Given the description of an element on the screen output the (x, y) to click on. 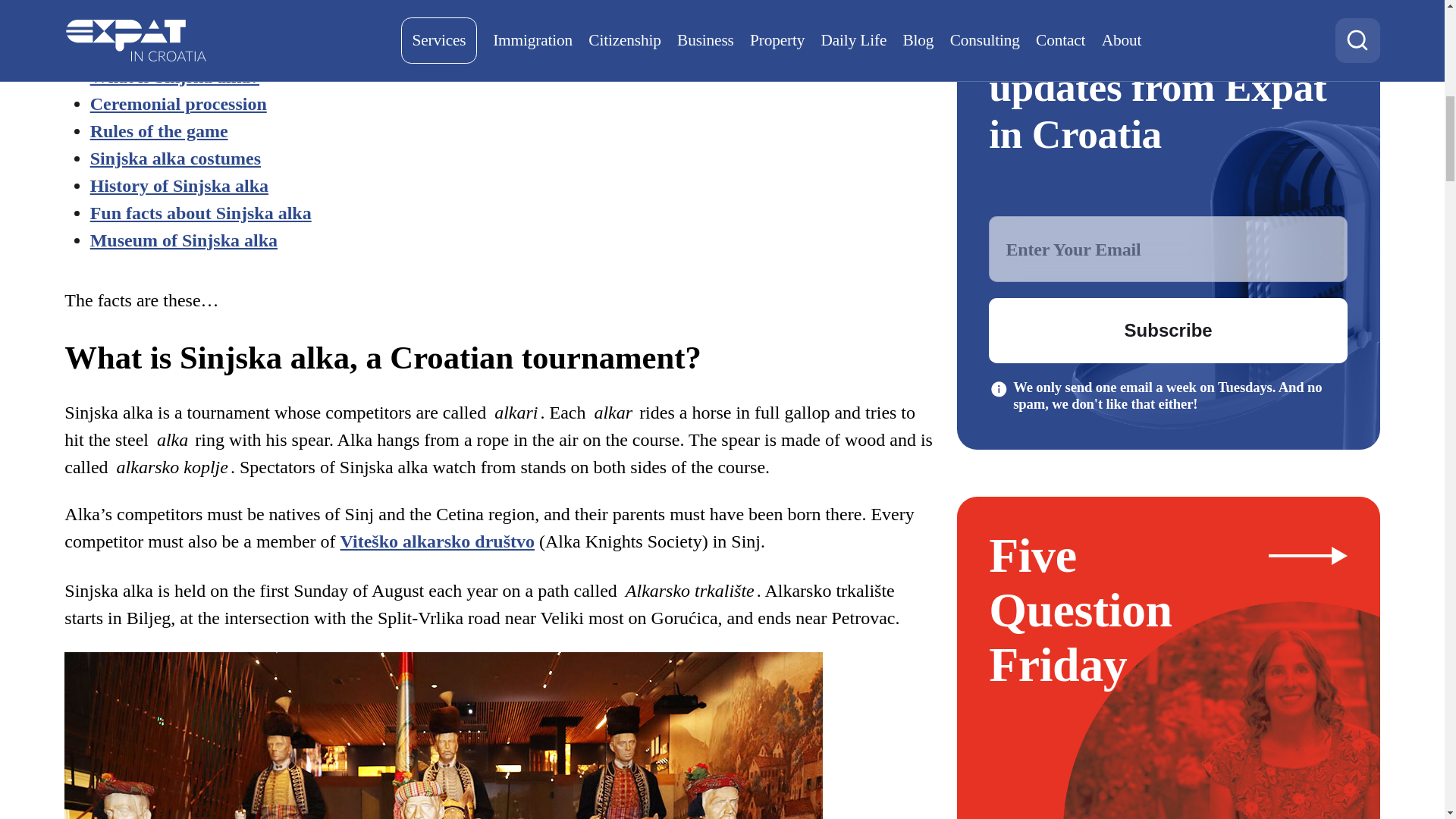
Subscribe (1168, 330)
